Given the description of an element on the screen output the (x, y) to click on. 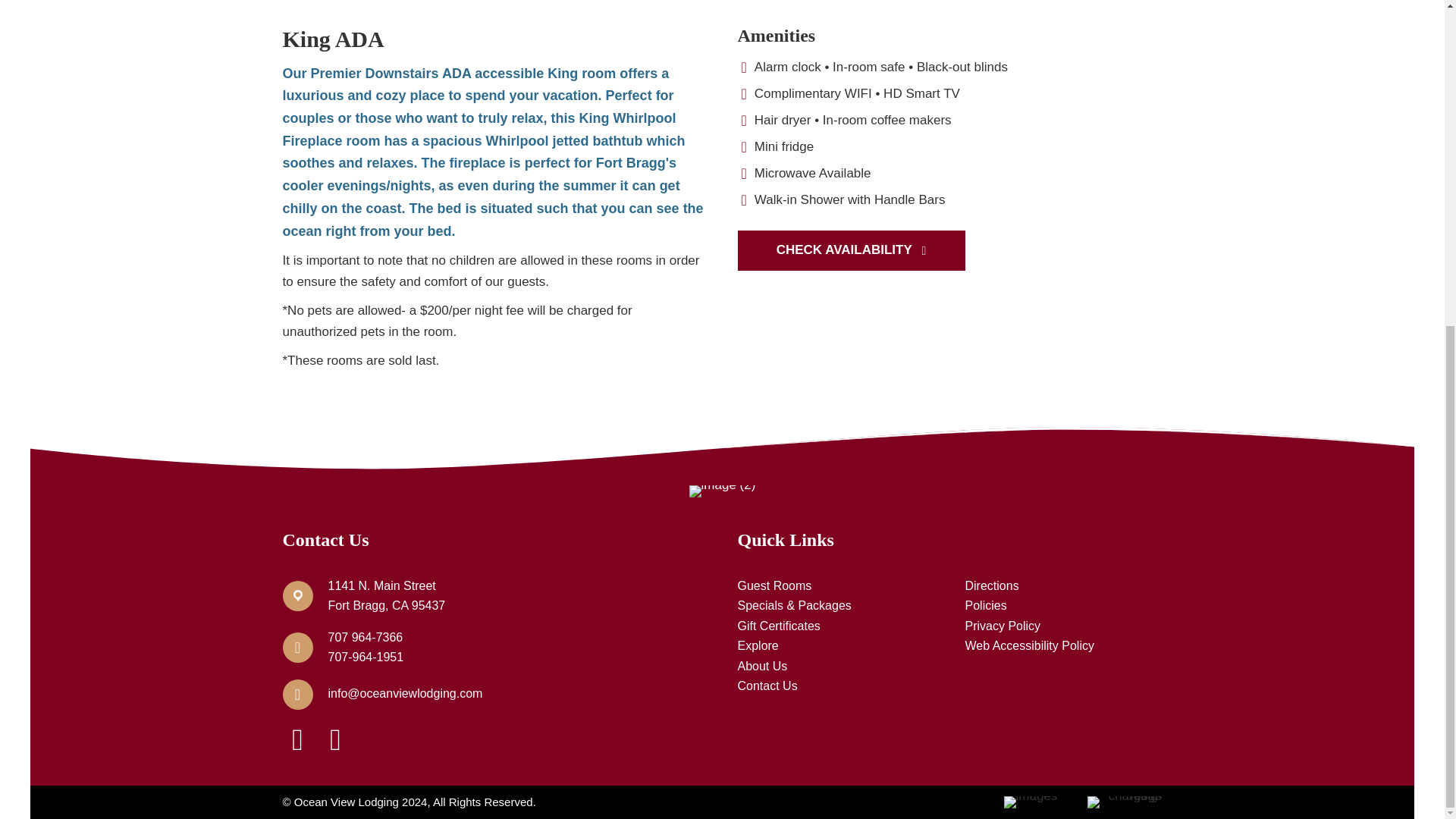
About Us (761, 666)
CHECK AVAILABILITY (849, 250)
Guest Rooms (773, 585)
707-964-1951 (365, 656)
Tesla-charging-logo (1124, 802)
Contact Us (766, 685)
707 964-7366 (365, 636)
Gift Certificates (777, 625)
Explore (756, 645)
Directions (990, 585)
